Given the description of an element on the screen output the (x, y) to click on. 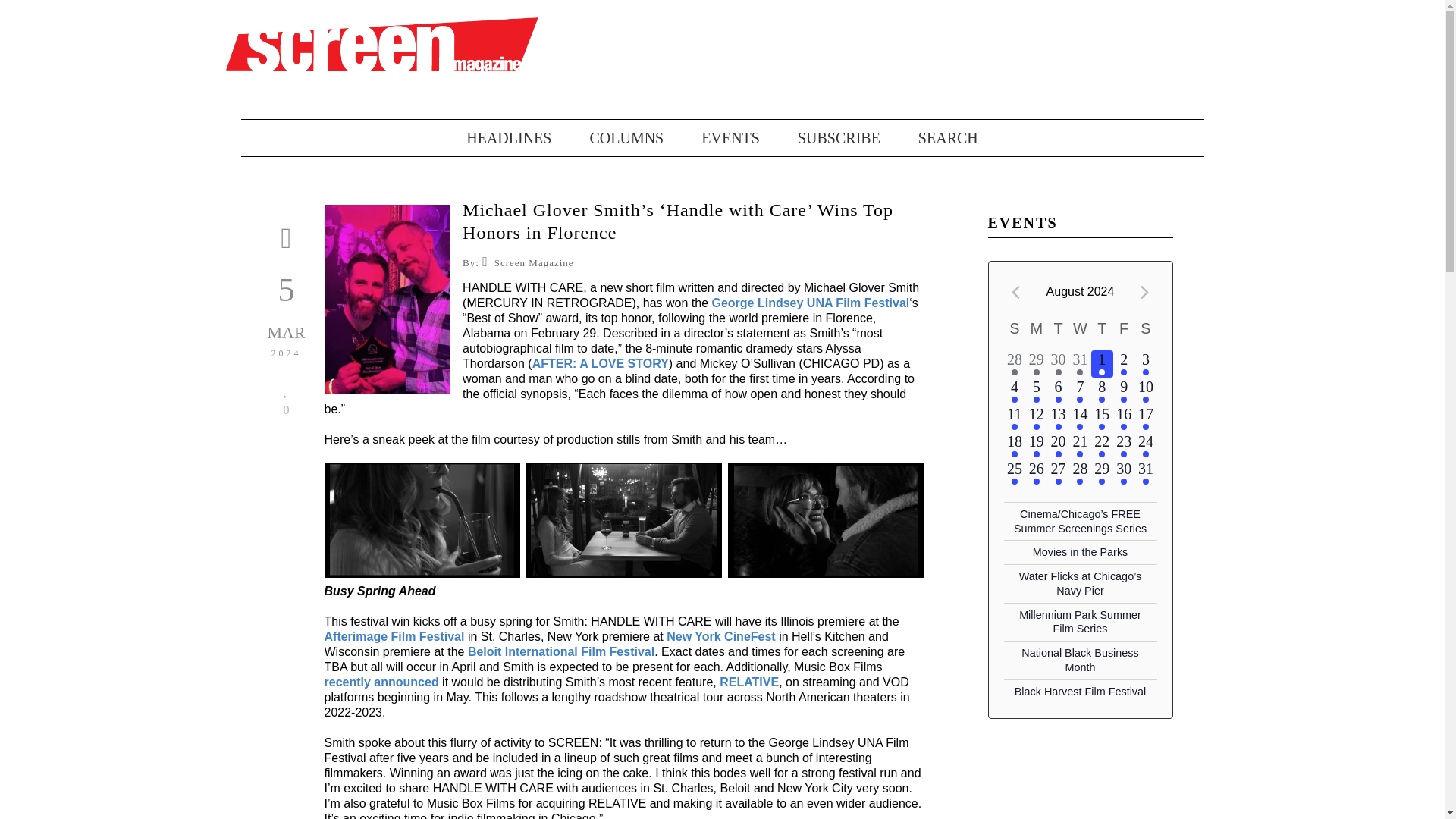
George Lindsey UNA Film Festival (809, 302)
Has events (1080, 372)
RELATIVE (748, 681)
COLUMNS (607, 137)
SUBSCRIBE (820, 137)
Asset 1 (381, 43)
Beloit International Film Festival (560, 651)
Screen Magazine (534, 262)
SEARCH (929, 137)
AFTER: A LOVE STORY (600, 363)
